Given the description of an element on the screen output the (x, y) to click on. 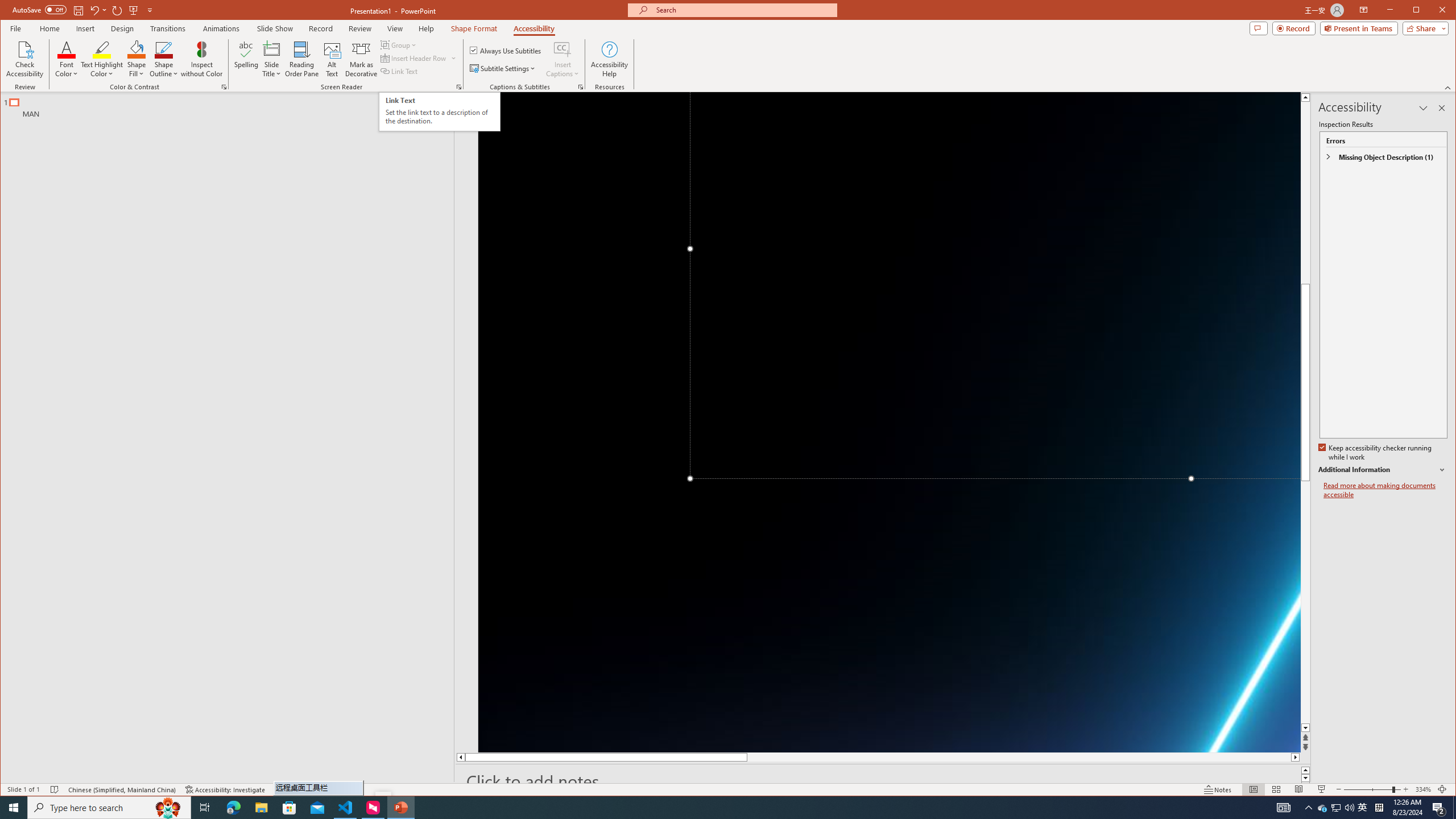
Zoom 334% (1422, 789)
Captions & Subtitles (580, 86)
Link Text (399, 70)
Screen Reader (458, 86)
Outline (231, 104)
